Given the description of an element on the screen output the (x, y) to click on. 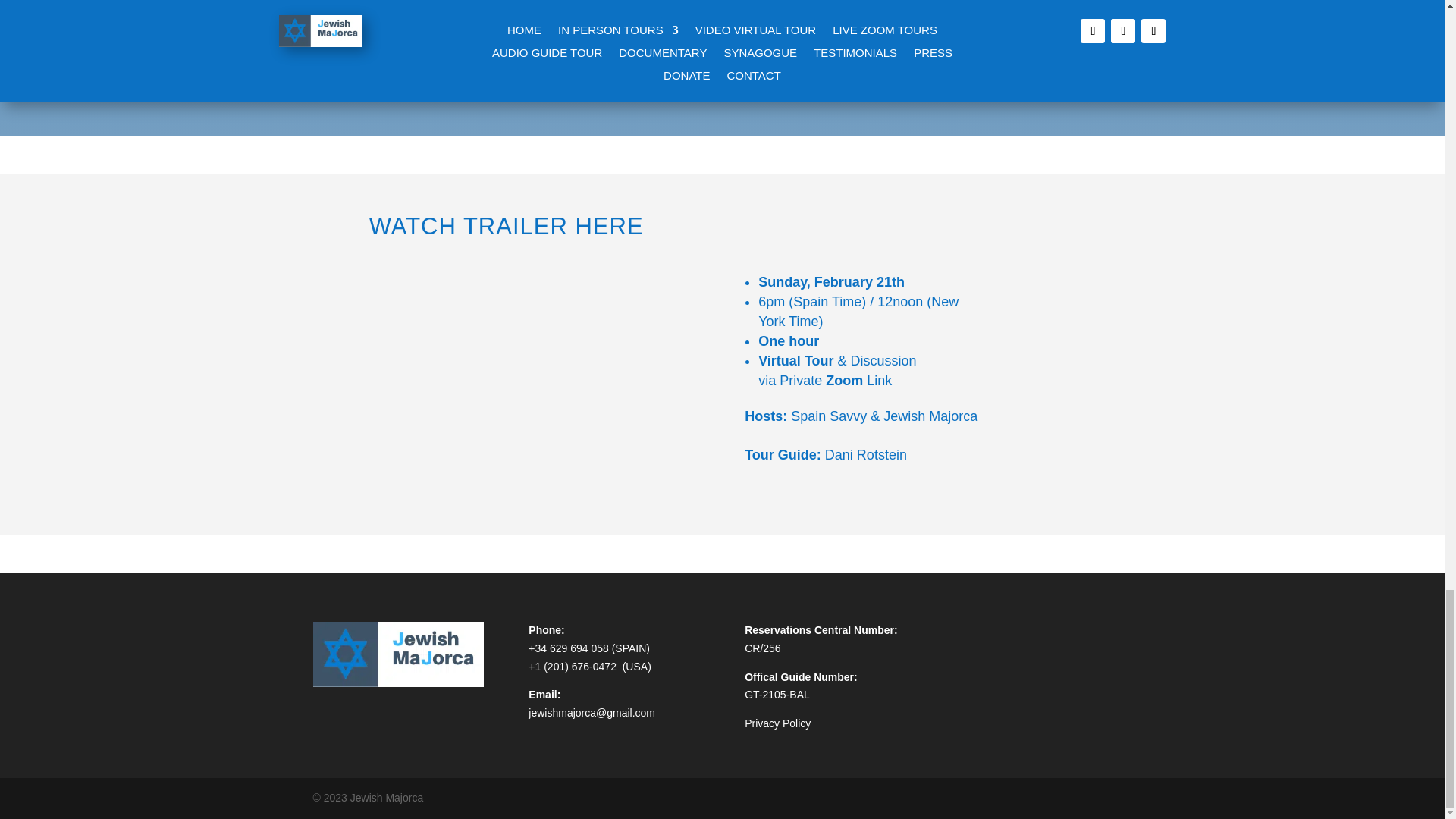
Donate to Jewish Majorca (721, 46)
Privacy Policy (777, 723)
